Given the description of an element on the screen output the (x, y) to click on. 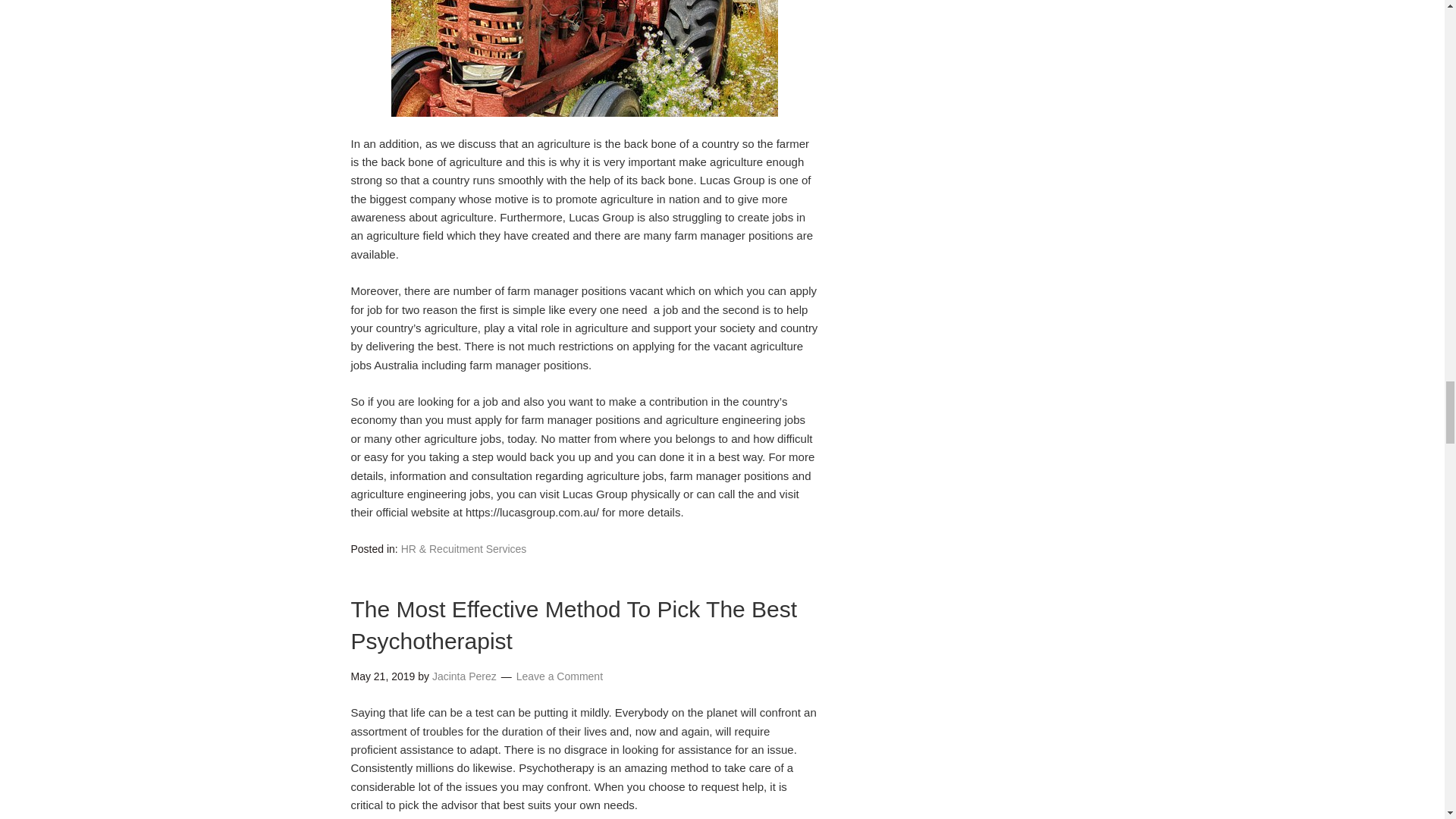
The Most Effective Method To Pick The Best Psychotherapist (573, 625)
Jacinta Perez (464, 676)
Leave a Comment (559, 676)
agriculture-job.jpg (584, 58)
Tuesday, May 21, 2019, 6:20 am (382, 676)
Posts by Jacinta Perez (464, 676)
